Given the description of an element on the screen output the (x, y) to click on. 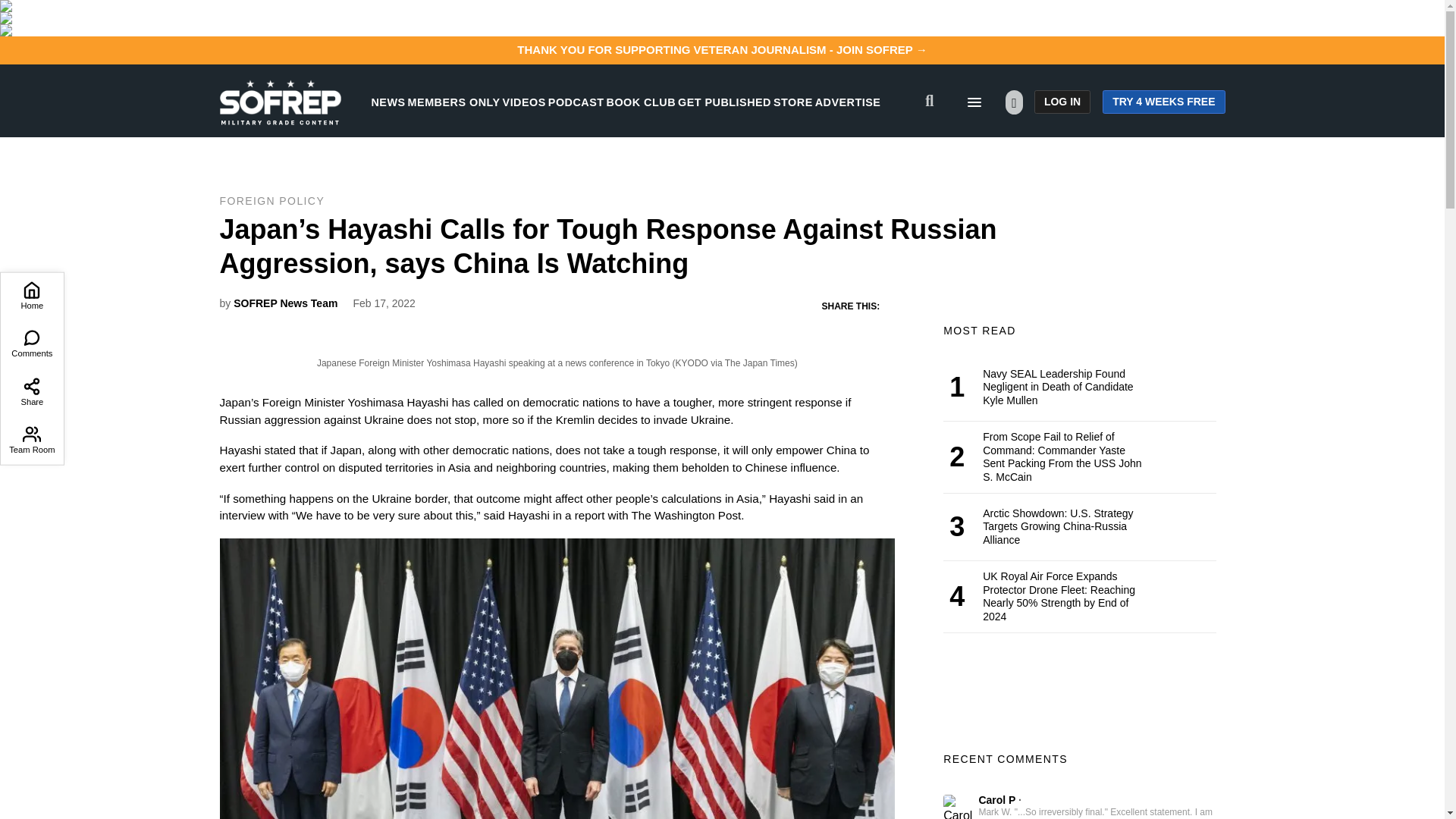
LOG IN (1061, 101)
ADVERTISE (847, 102)
VIDEOS (524, 102)
TRY 4 WEEKS FREE (1163, 101)
MEMBERS ONLY (453, 102)
STORE (792, 102)
GET PUBLISHED (724, 102)
BOOK CLUB (641, 102)
NEWS (388, 102)
PODCAST (576, 102)
